Given the description of an element on the screen output the (x, y) to click on. 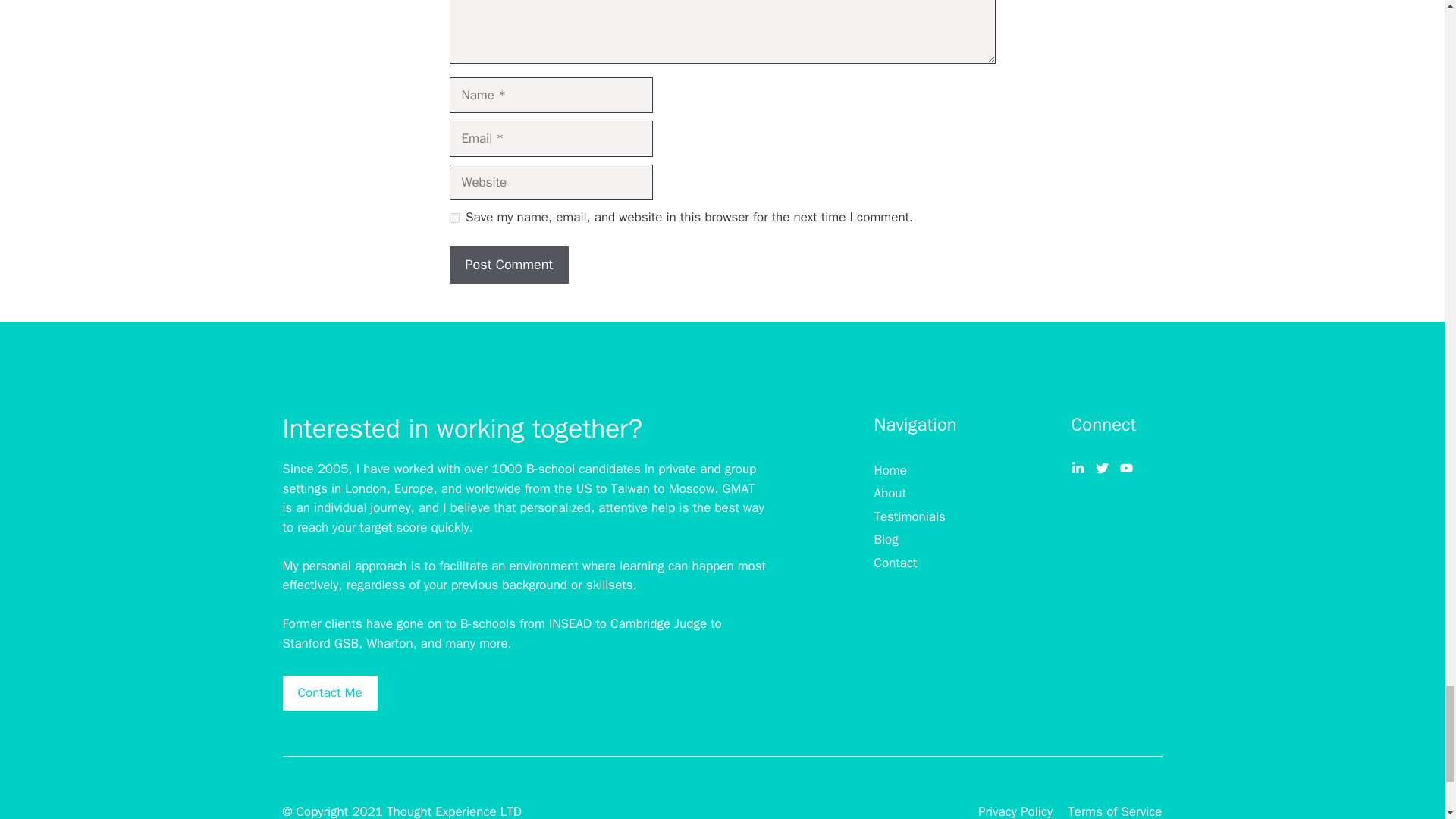
Post Comment (508, 264)
Contact Me (329, 692)
Post Comment (508, 264)
About (889, 493)
Home (889, 470)
yes (453, 217)
Testimonials (908, 516)
